Given the description of an element on the screen output the (x, y) to click on. 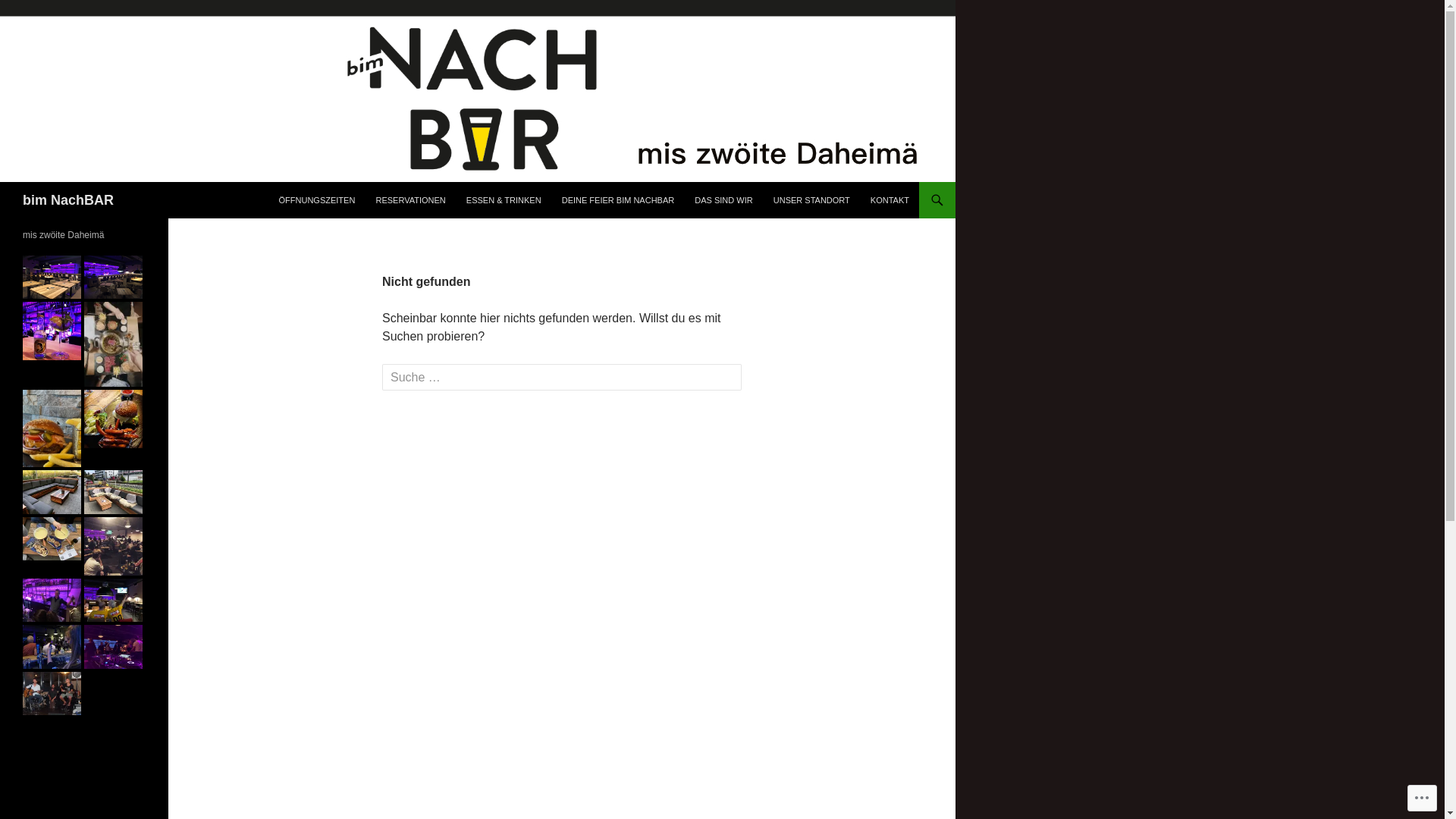
Suche Element type: text (38, 13)
KONTAKT Element type: text (889, 200)
DEINE FEIER BIM NACHBAR Element type: text (618, 200)
RESERVATIONEN Element type: text (410, 200)
UNSER STANDORT Element type: text (811, 200)
bim NachBAR Element type: text (67, 200)
ESSEN & TRINKEN Element type: text (503, 200)
DAS SIND WIR Element type: text (723, 200)
Suchen Element type: text (3, 181)
